Given the description of an element on the screen output the (x, y) to click on. 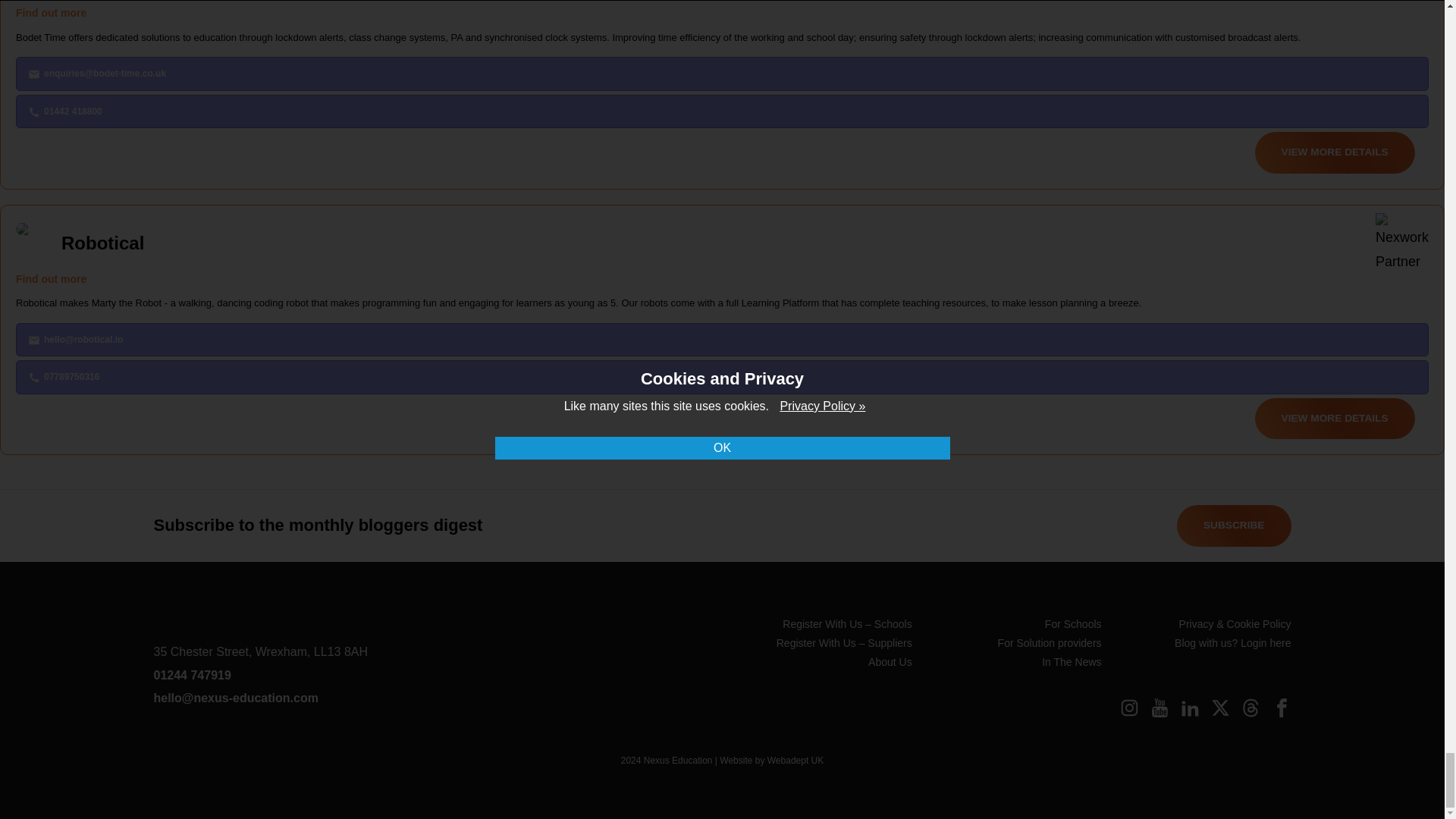
call (33, 111)
email (33, 73)
call (33, 377)
email (33, 340)
